Given the description of an element on the screen output the (x, y) to click on. 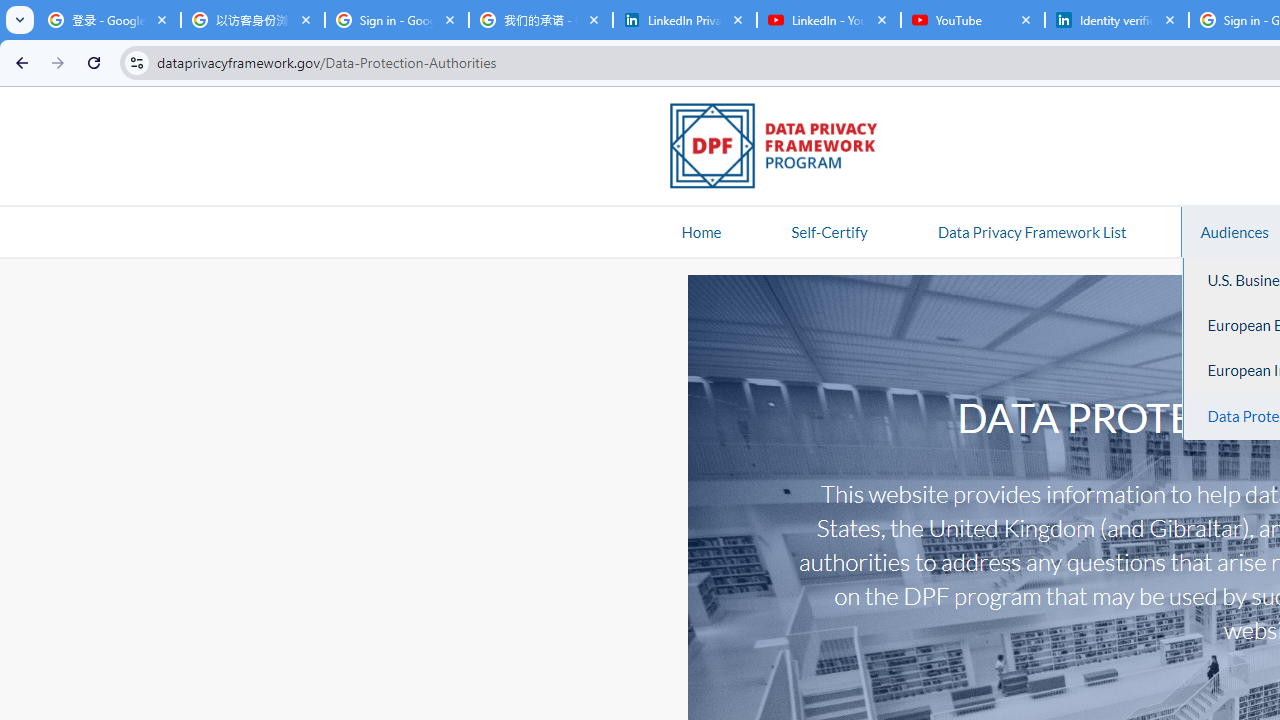
LinkedIn Privacy Policy (684, 20)
Data Privacy Framework List (1031, 231)
Data Privacy Framework Logo - Link to Homepage (783, 149)
Home (701, 231)
Self-Certify (829, 231)
LinkedIn - YouTube (828, 20)
